Given the description of an element on the screen output the (x, y) to click on. 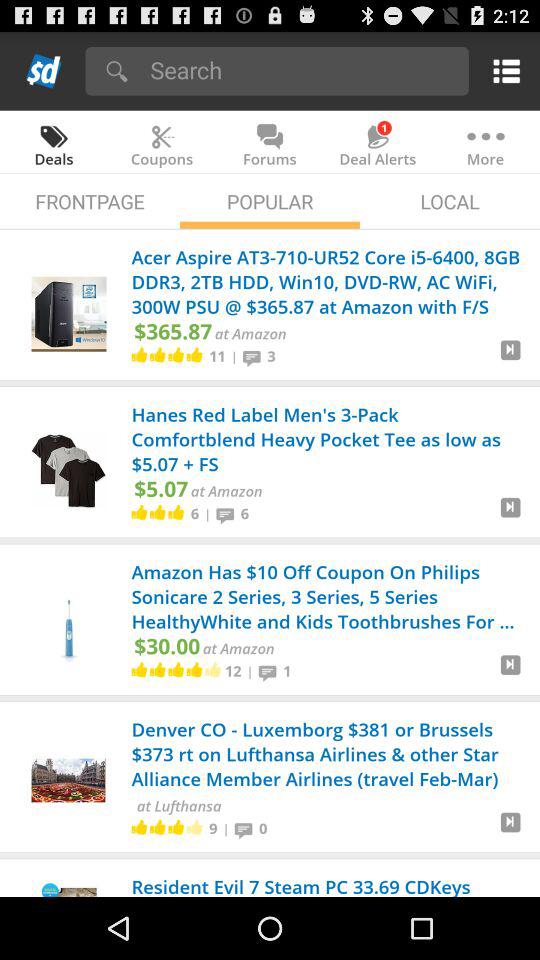
click item to the right of popular (450, 200)
